Given the description of an element on the screen output the (x, y) to click on. 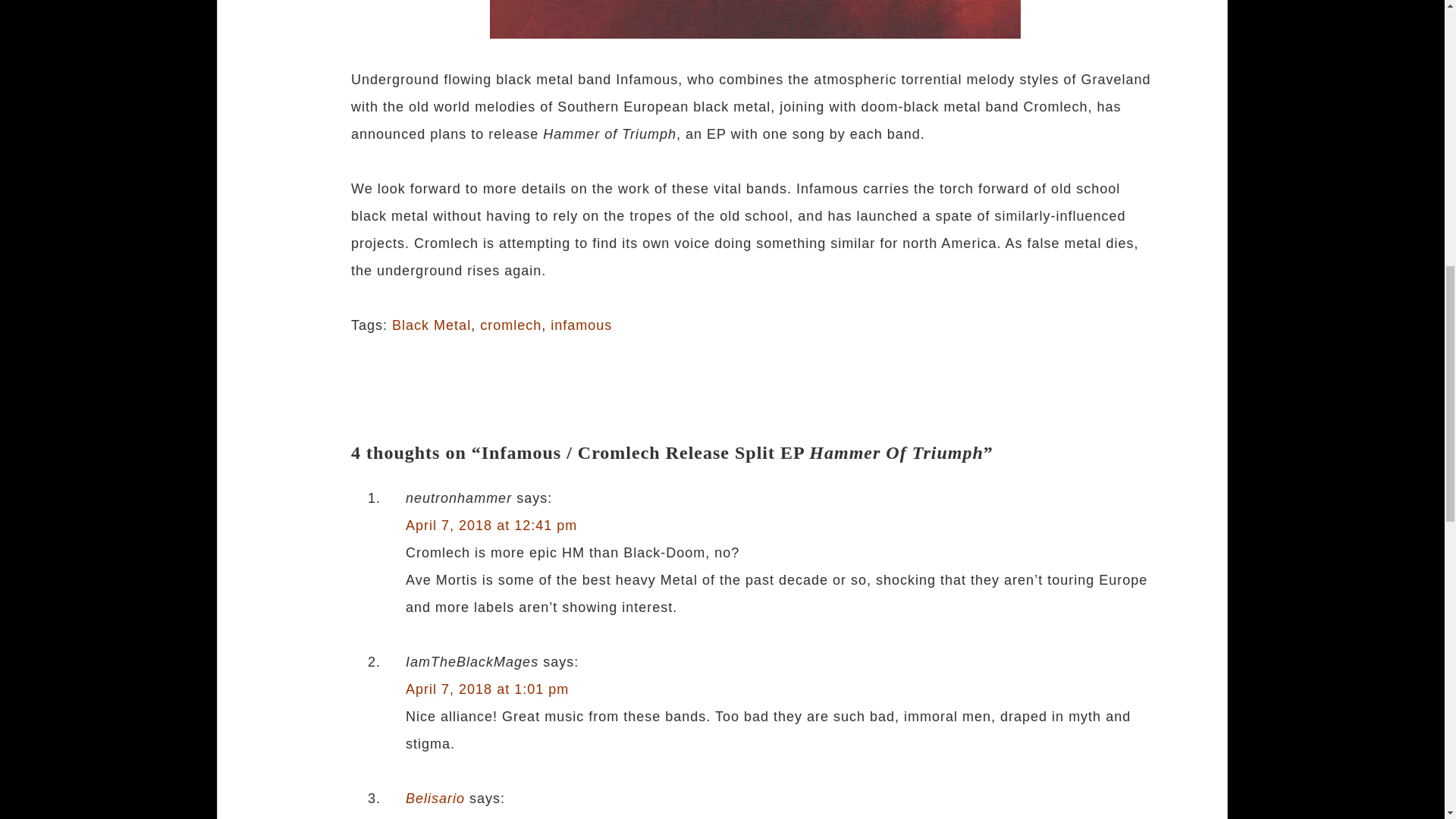
April 7, 2018 at 1:01 pm (487, 688)
Black Metal (430, 324)
April 7, 2018 at 12:41 pm (491, 525)
cromlech (510, 324)
Belisario (435, 798)
infamous (580, 324)
